Given the description of an element on the screen output the (x, y) to click on. 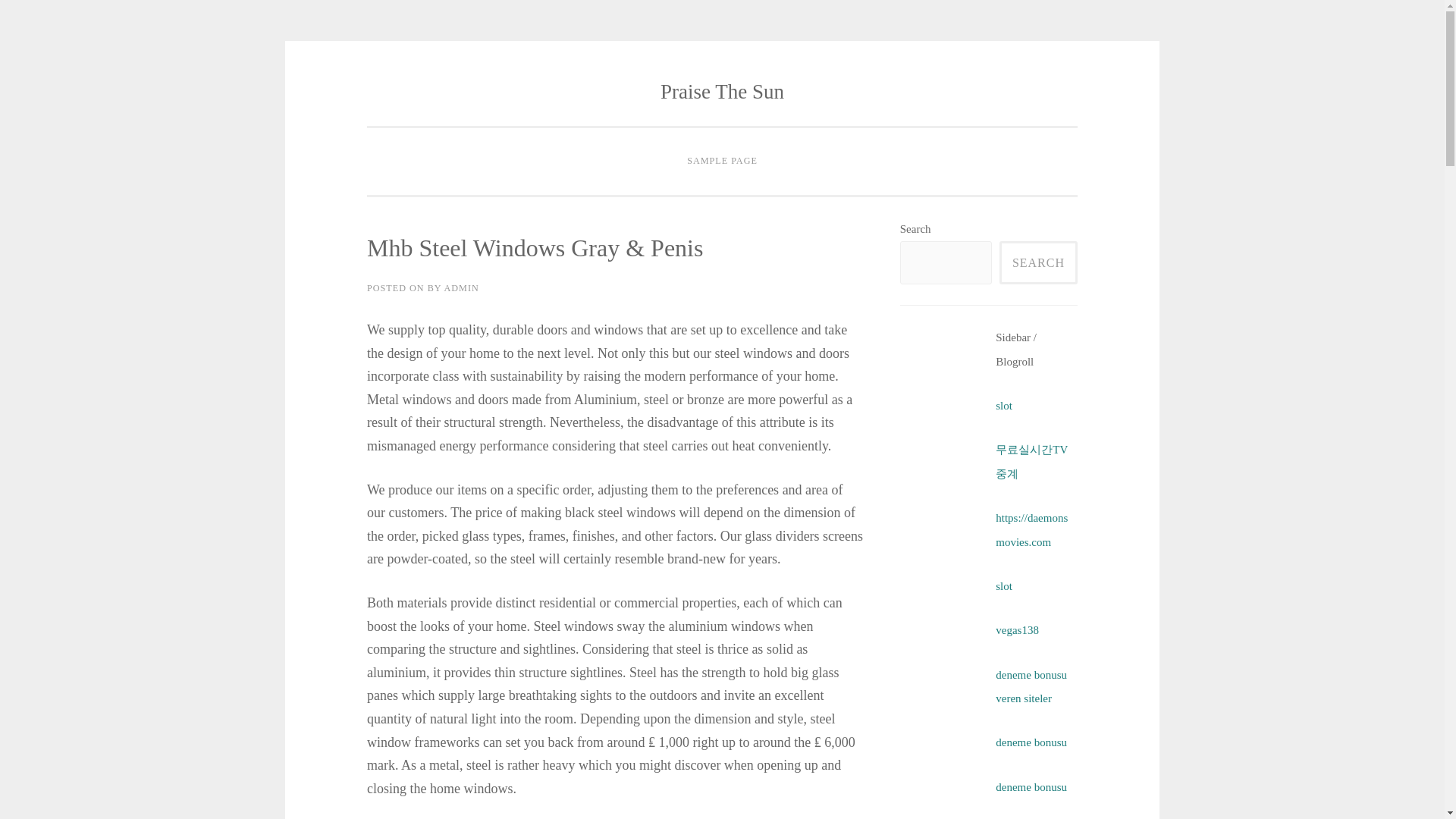
deneme bonusu (1031, 742)
Praise The Sun (722, 91)
deneme bonusu (1031, 787)
SEARCH (1037, 262)
vegas138 (1017, 630)
SAMPLE PAGE (721, 161)
Praise The Sun (722, 91)
deneme bonusu veren siteler (1031, 686)
slot (1003, 585)
